Given the description of an element on the screen output the (x, y) to click on. 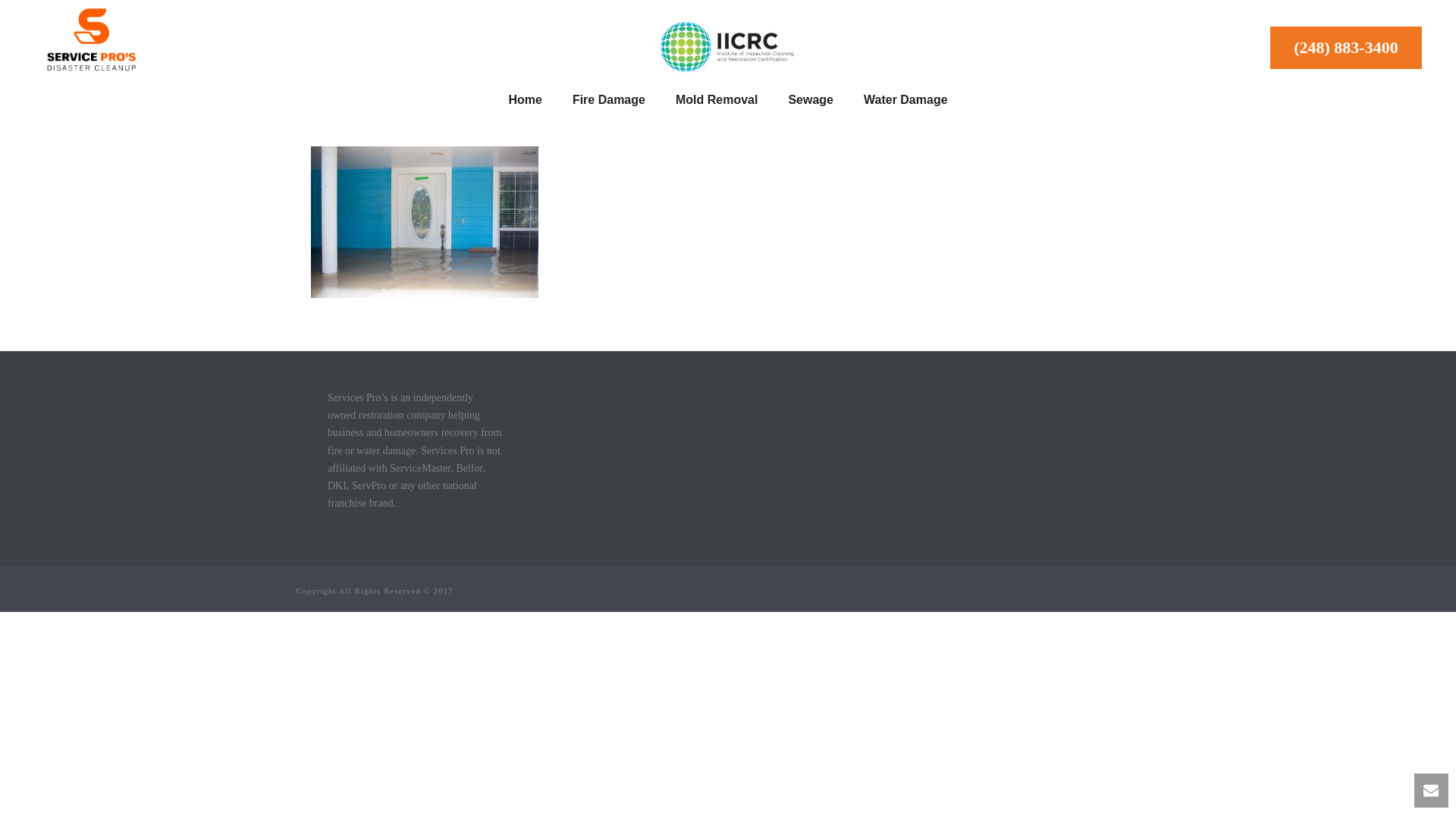
Disaster Cleanup Pros (727, 46)
Sewage (810, 96)
Disaster Cleanup Pros (90, 40)
Mold Removal (717, 96)
Home (524, 96)
Fire Damage (609, 96)
Mold Removal (717, 96)
Fire Damage (609, 96)
Home (524, 96)
Water Damage (905, 96)
Sewage (810, 96)
Water Damage (905, 96)
